Given the description of an element on the screen output the (x, y) to click on. 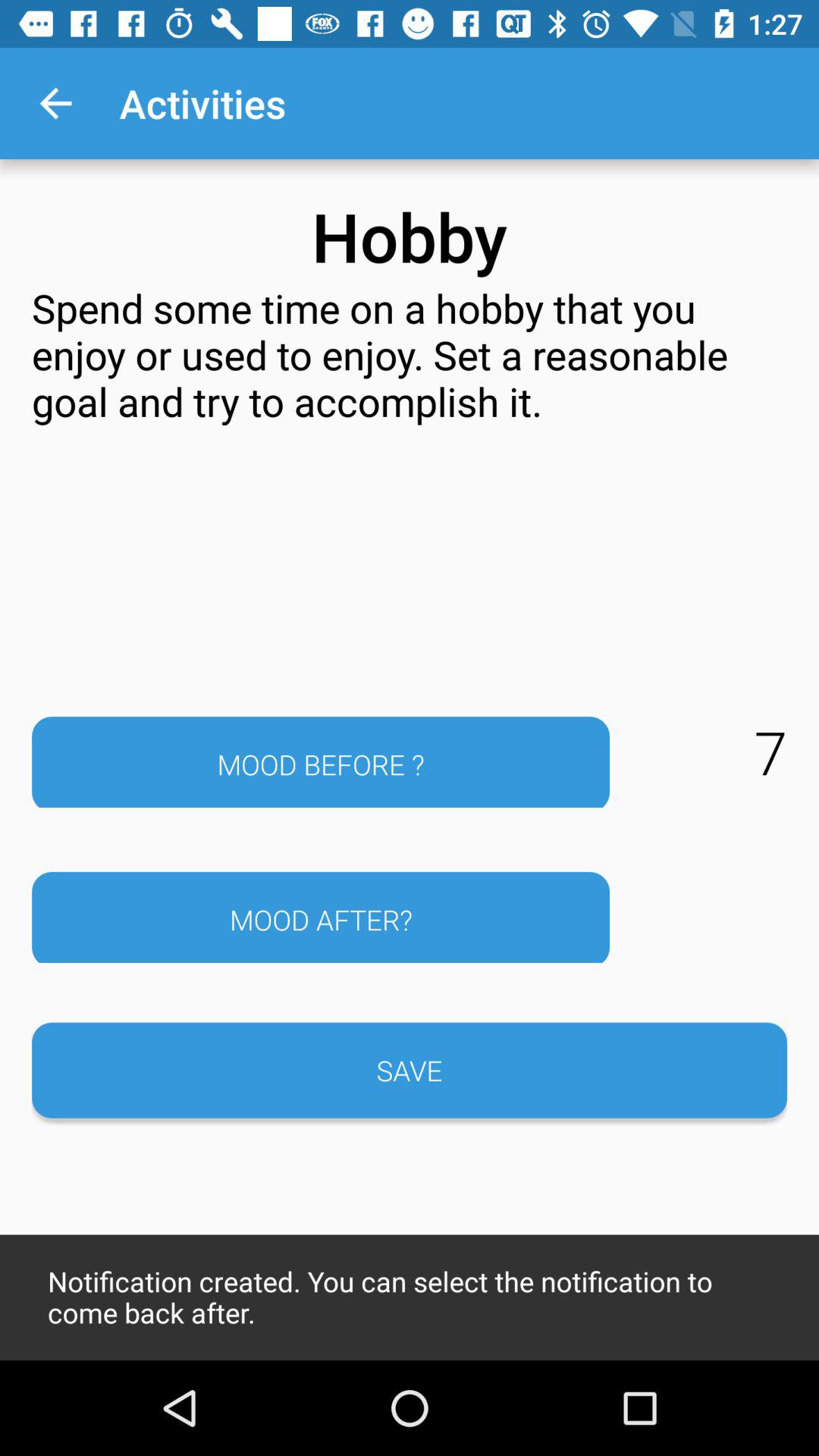
tap item above spend some time app (55, 103)
